Given the description of an element on the screen output the (x, y) to click on. 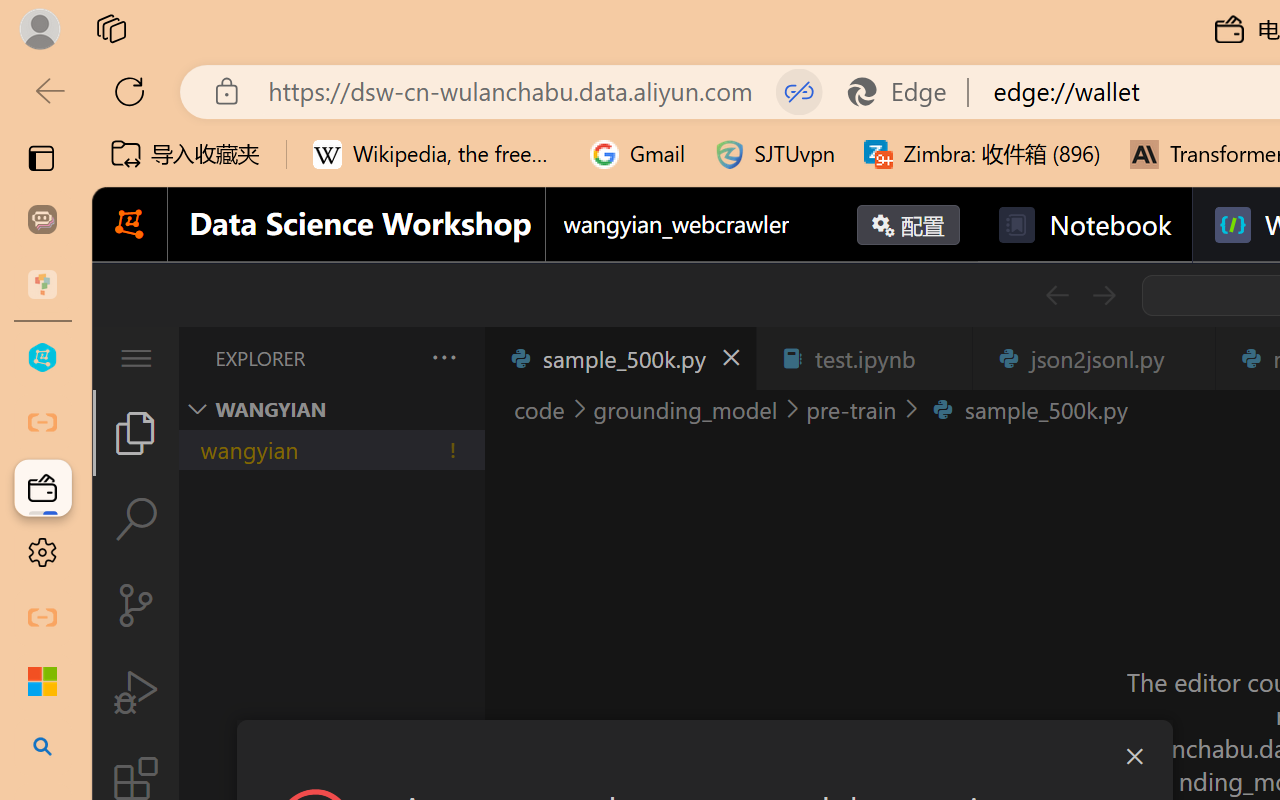
Explorer (Ctrl+Shift+E) (135, 432)
Explorer Section: wangyian (331, 409)
Microsoft security help and learning (42, 681)
Class: actions-container (703, 756)
Source Control (Ctrl+Shift+G) (135, 604)
test.ipynb (864, 358)
Wikipedia, the free encyclopedia (437, 154)
wangyian_dsw - DSW (42, 357)
